Given the description of an element on the screen output the (x, y) to click on. 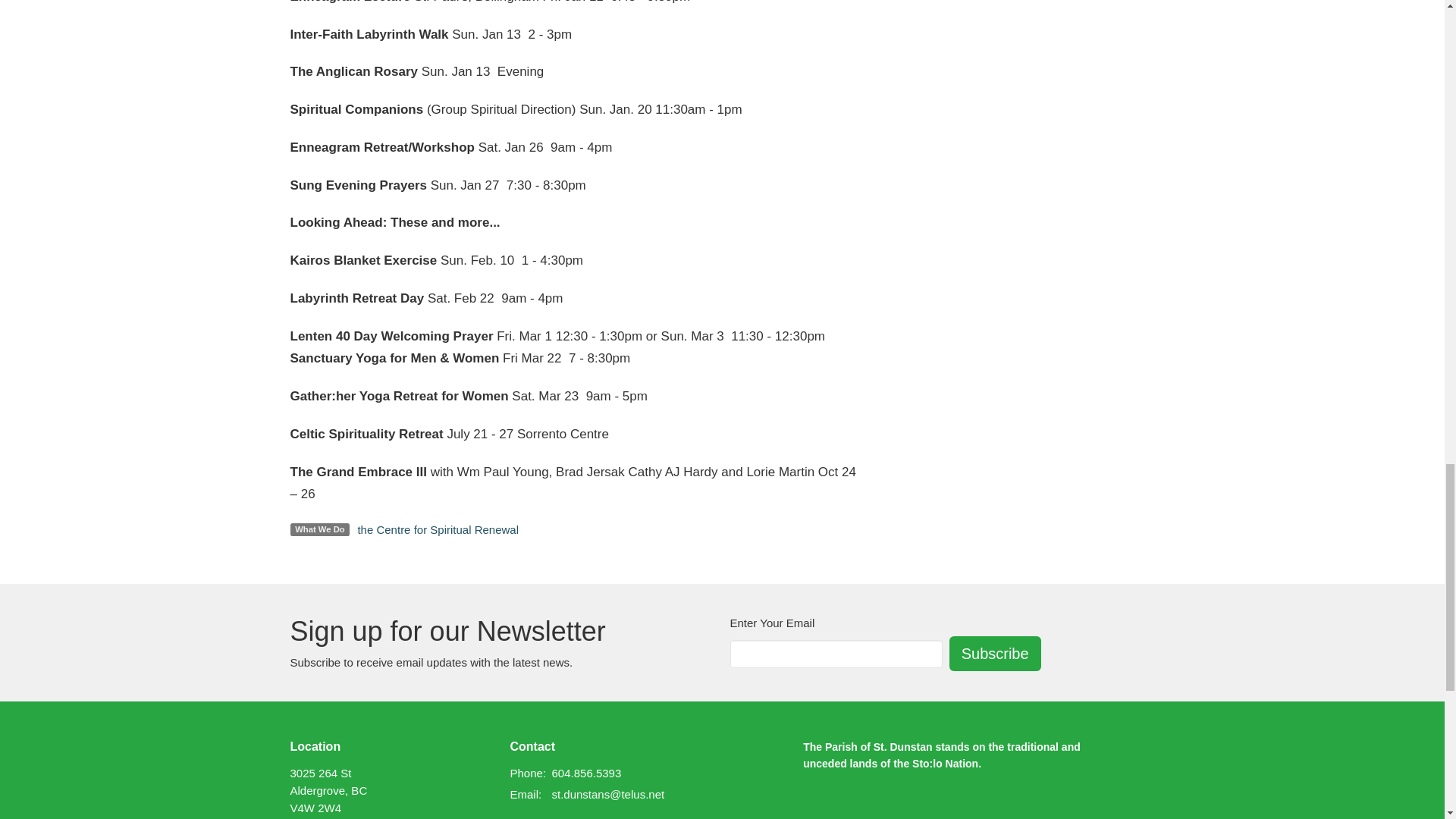
translation missing: en.ui.email (523, 793)
604.856.5393 (586, 773)
Subscribe (995, 653)
the Centre for Spiritual Renewal (437, 529)
